Given the description of an element on the screen output the (x, y) to click on. 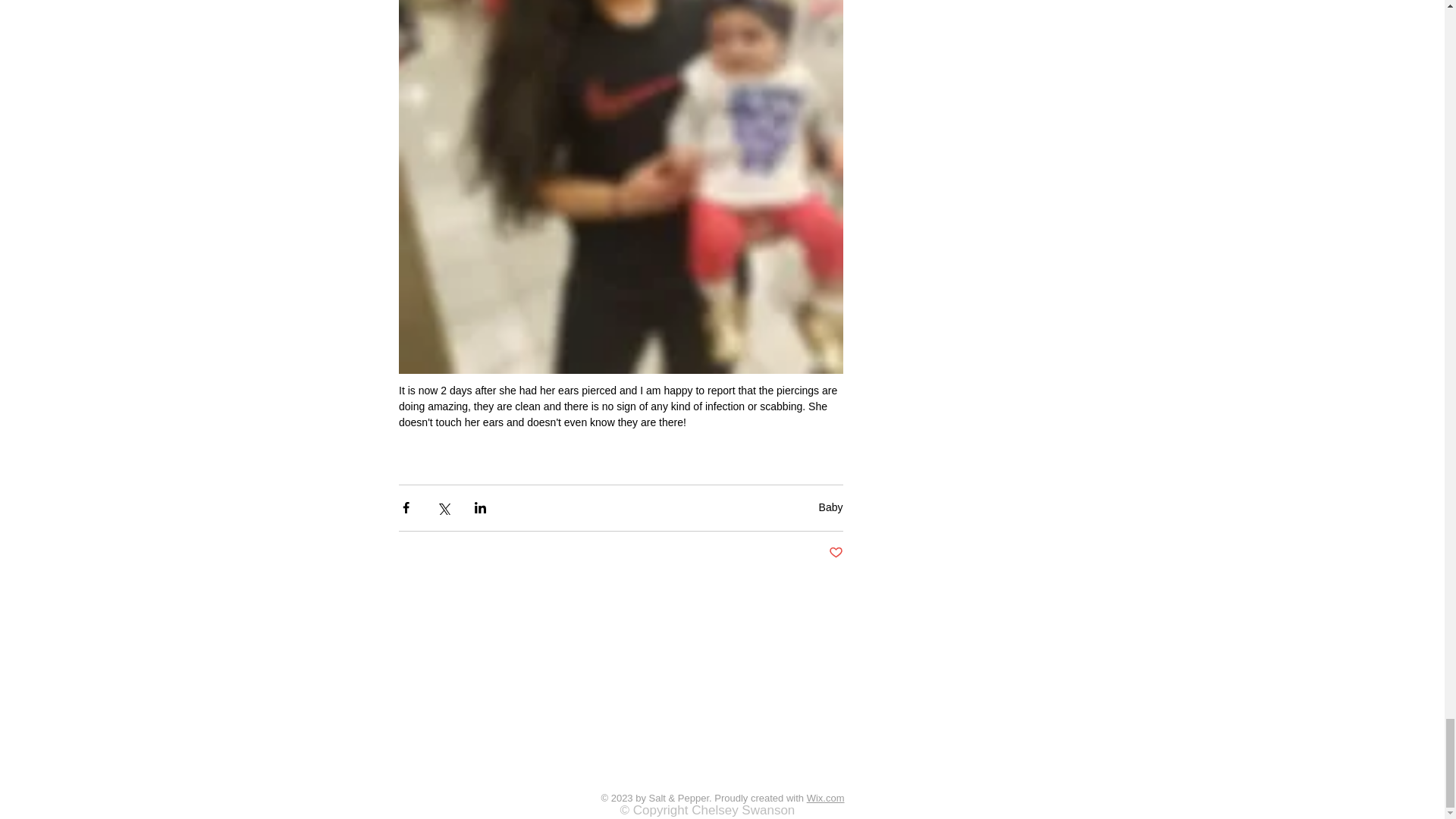
Wix.com (825, 797)
Baby (830, 507)
Post not marked as liked (835, 552)
